Given the description of an element on the screen output the (x, y) to click on. 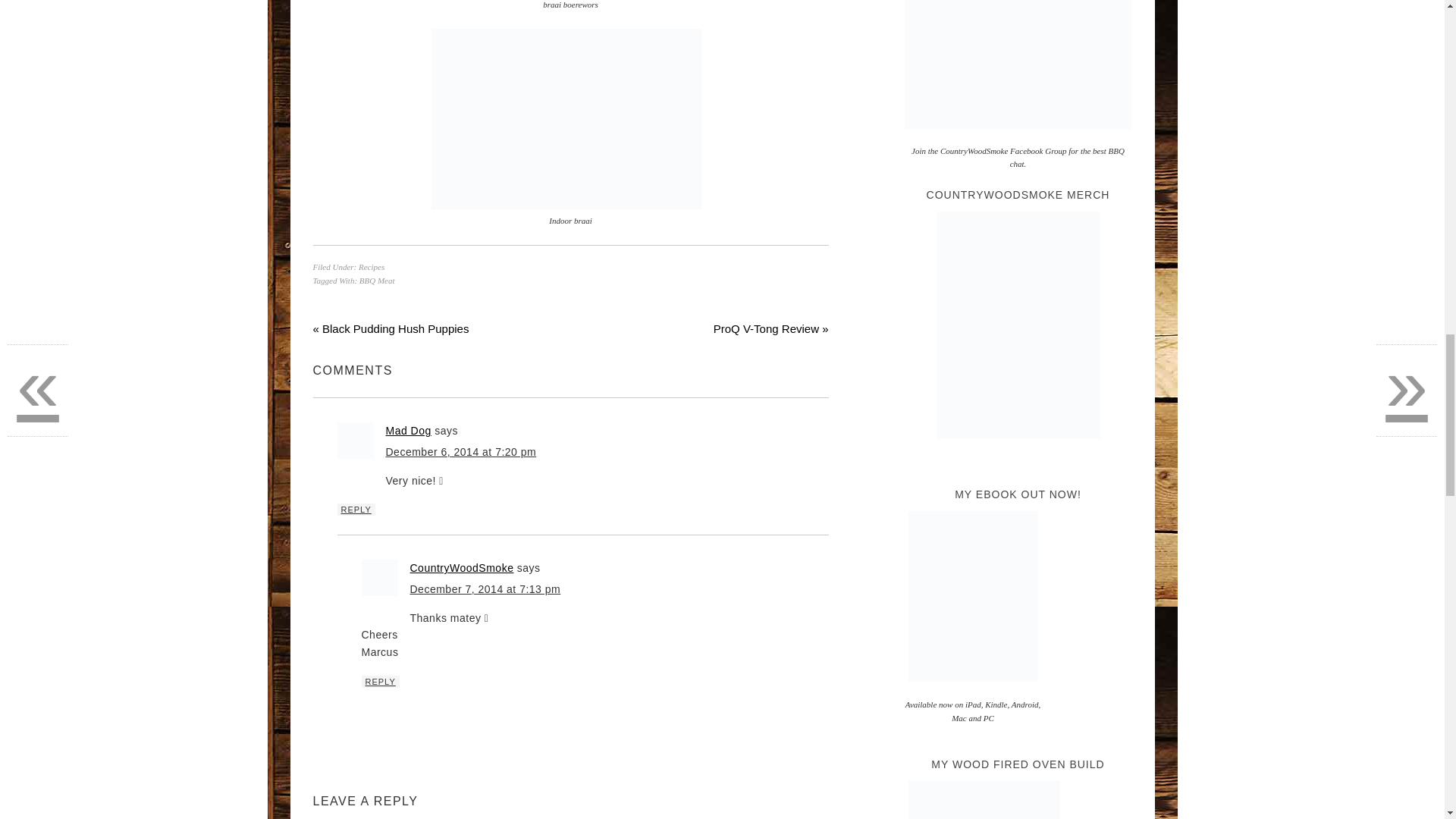
Recipes (371, 266)
Mad Dog (407, 430)
CountryWoodSmoke (461, 567)
REPLY (355, 509)
REPLY (379, 681)
BBQ Meat (376, 280)
December 7, 2014 at 7:13 pm (484, 589)
December 6, 2014 at 7:20 pm (460, 451)
